Given the description of an element on the screen output the (x, y) to click on. 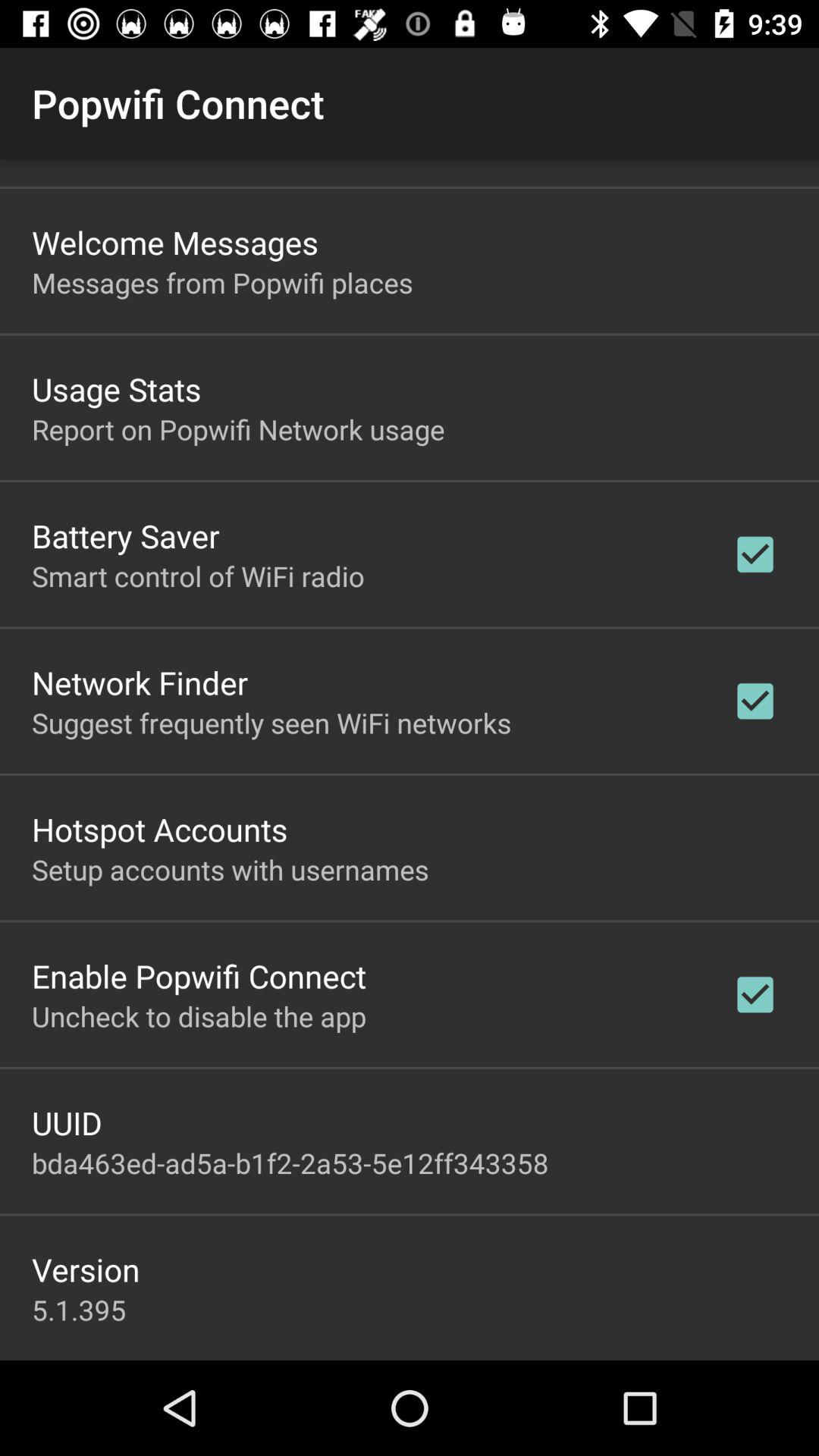
scroll until the 5.1.395 item (78, 1309)
